Given the description of an element on the screen output the (x, y) to click on. 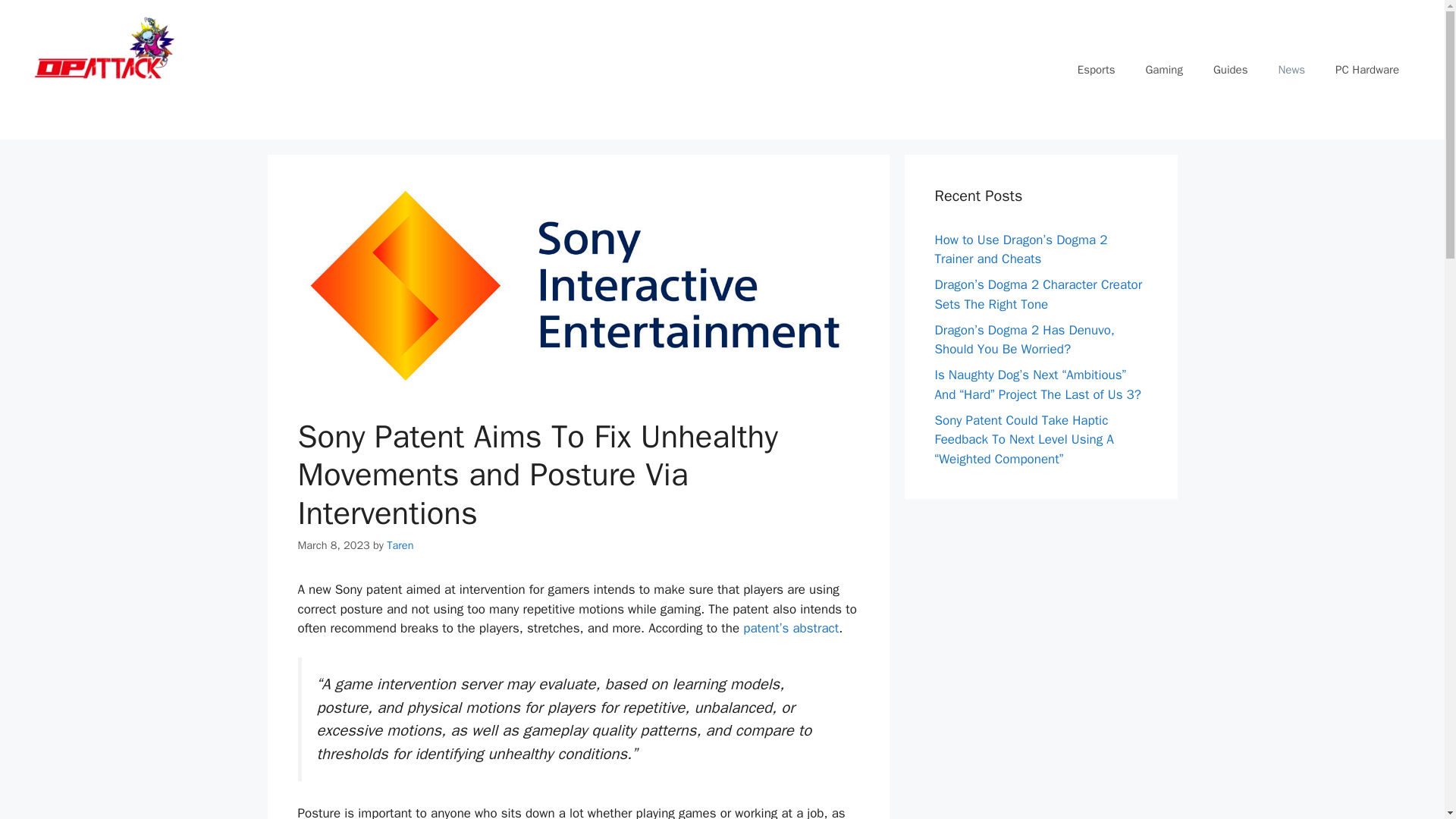
Taren (400, 545)
Guides (1230, 69)
Esports (1096, 69)
PC Hardware (1366, 69)
View all posts by Taren (400, 545)
Gaming (1162, 69)
News (1291, 69)
